Given the description of an element on the screen output the (x, y) to click on. 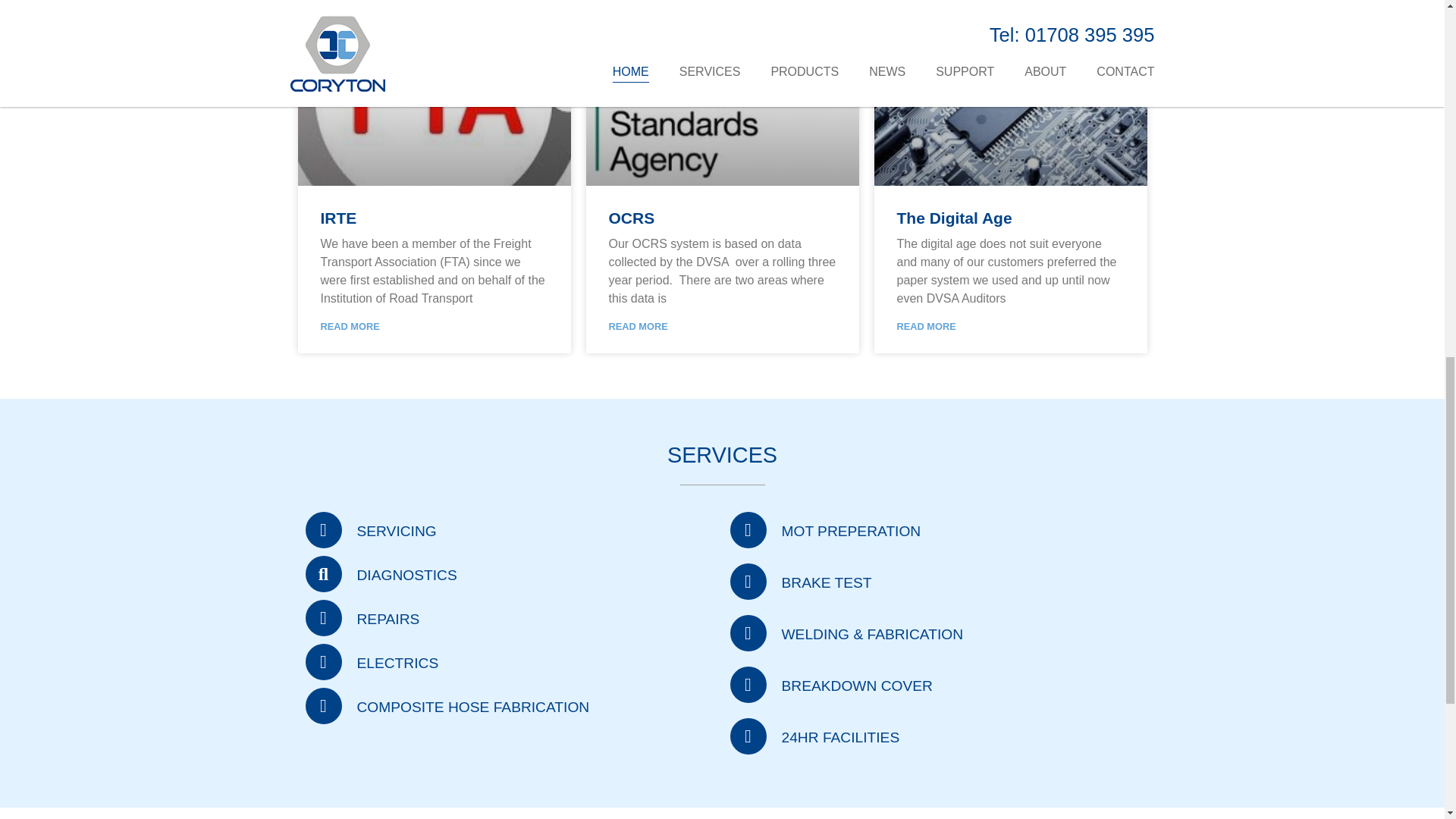
OCRS (630, 217)
READ MORE (637, 327)
READ MORE (349, 327)
IRTE (338, 217)
